Given the description of an element on the screen output the (x, y) to click on. 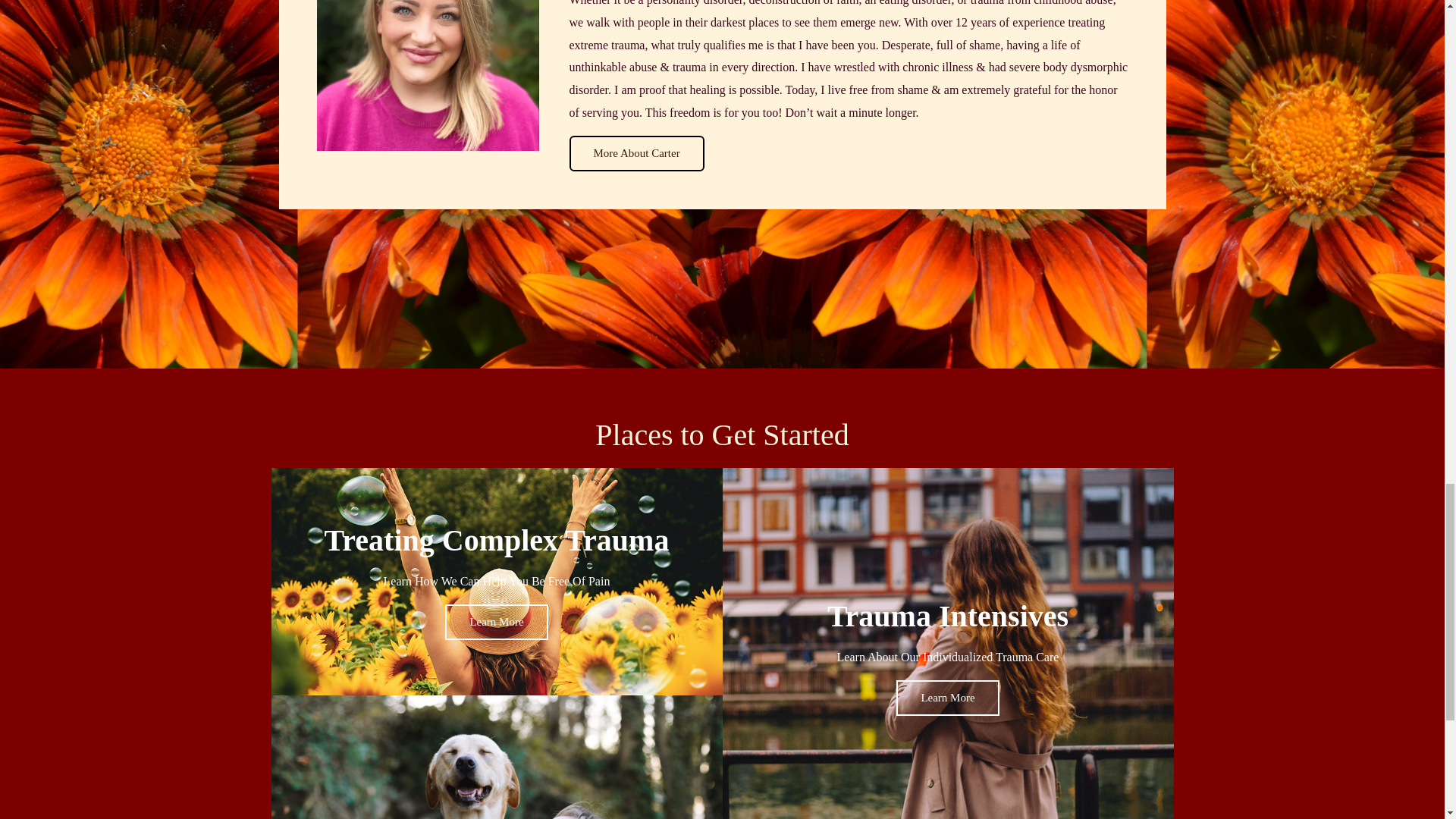
More About Carter (636, 153)
